Given the description of an element on the screen output the (x, y) to click on. 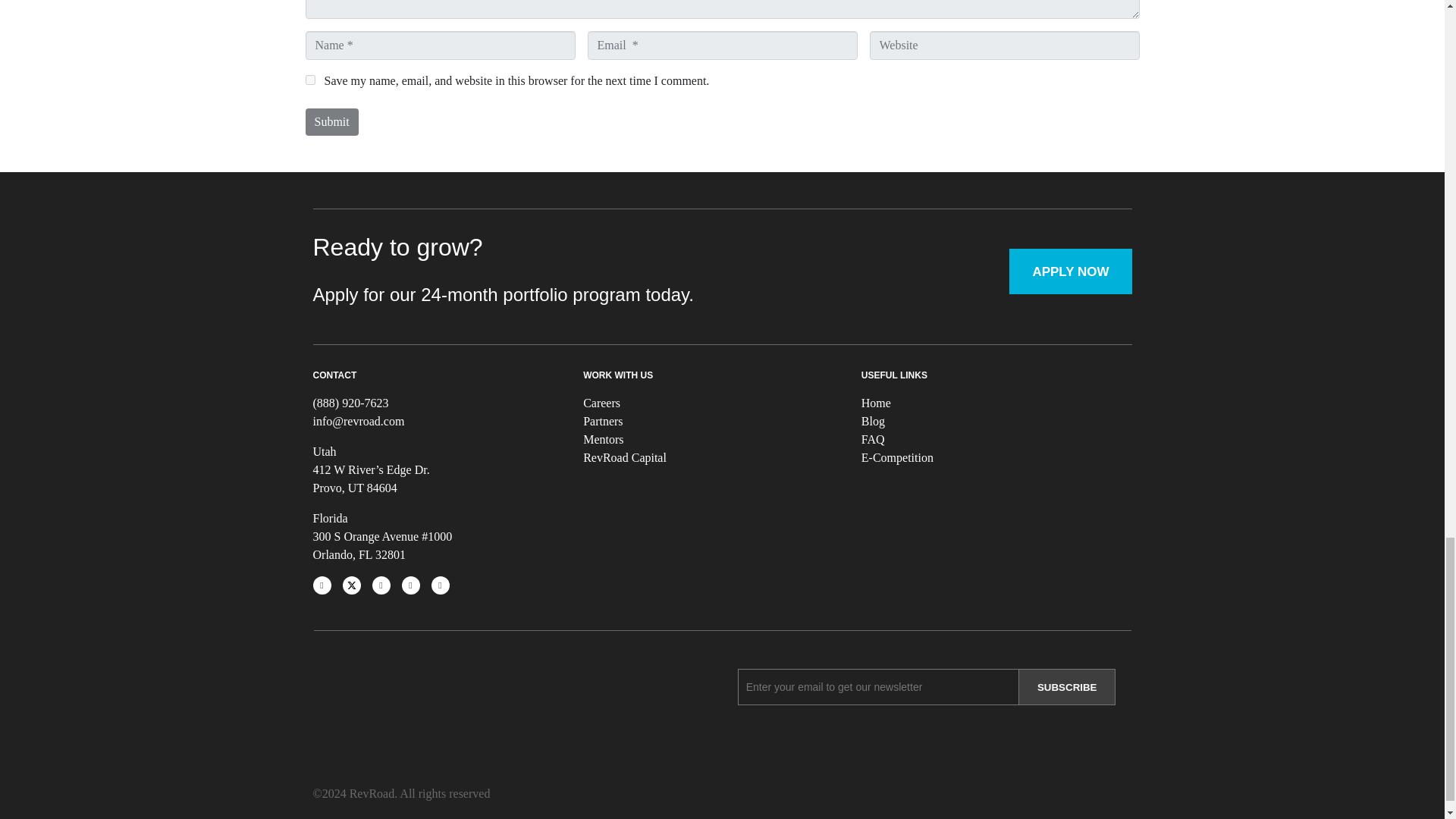
Group 54 (366, 712)
yes (309, 80)
SUBSCRIBE (1067, 687)
